Given the description of an element on the screen output the (x, y) to click on. 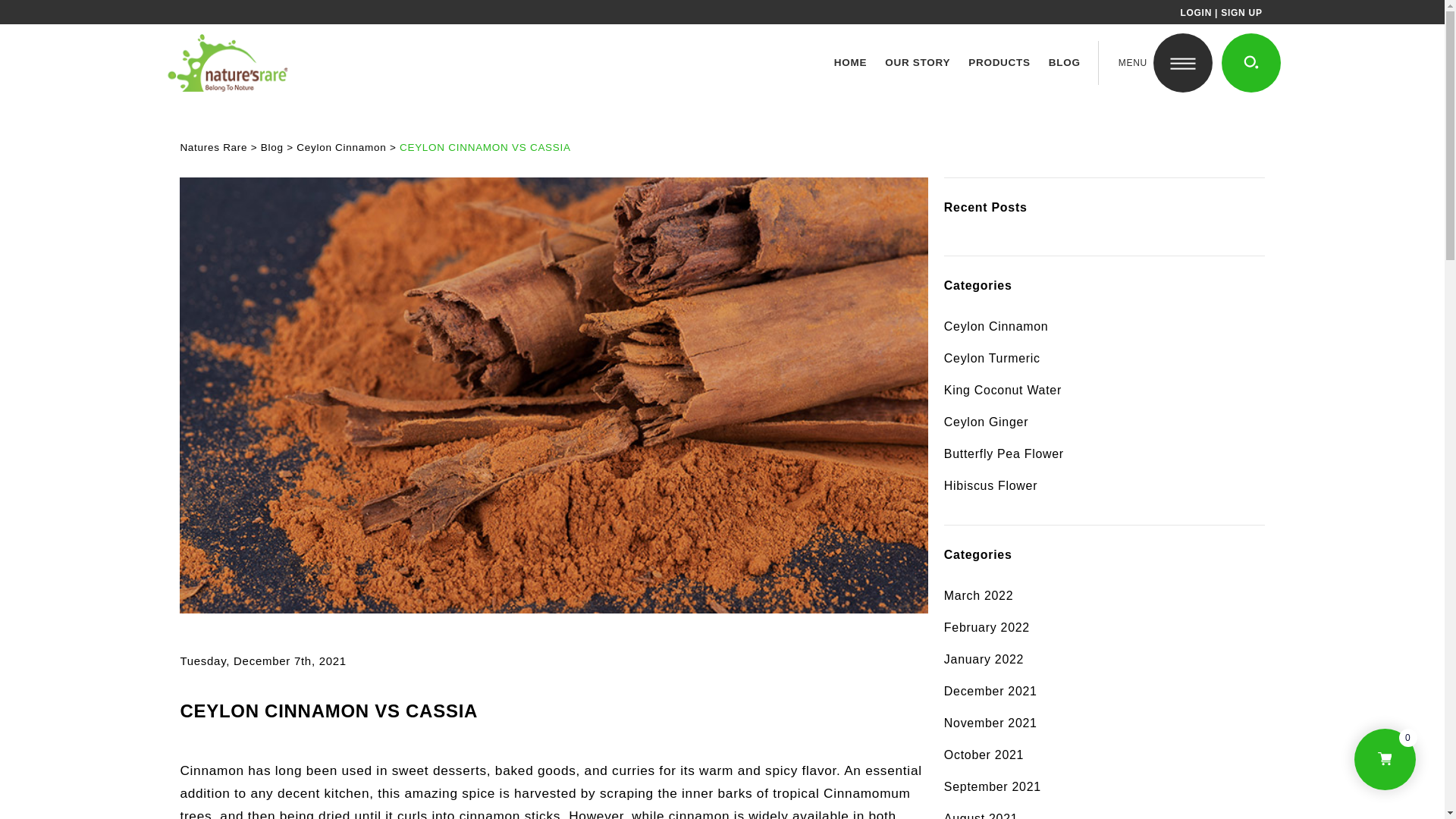
Go to the Blog category archives. (271, 147)
Go to Natures Rare. (213, 147)
Ceylon Turmeric (1104, 358)
King Coconut Water (1104, 390)
Go to CEYLON CINNAMON VS CASSIA. (484, 147)
PRODUCTS (999, 62)
Go to the Ceylon Cinnamon category archives. (341, 147)
CEYLON CINNAMON VS CASSIA (484, 147)
View your shopping cart (1384, 759)
Natures Rare (213, 147)
Ceylon Ginger (1104, 422)
Butterfly Pea Flower (1104, 454)
Ceylon Cinnamon (341, 147)
Search (1251, 62)
Ceylon Cinnamon (1104, 326)
